Given the description of an element on the screen output the (x, y) to click on. 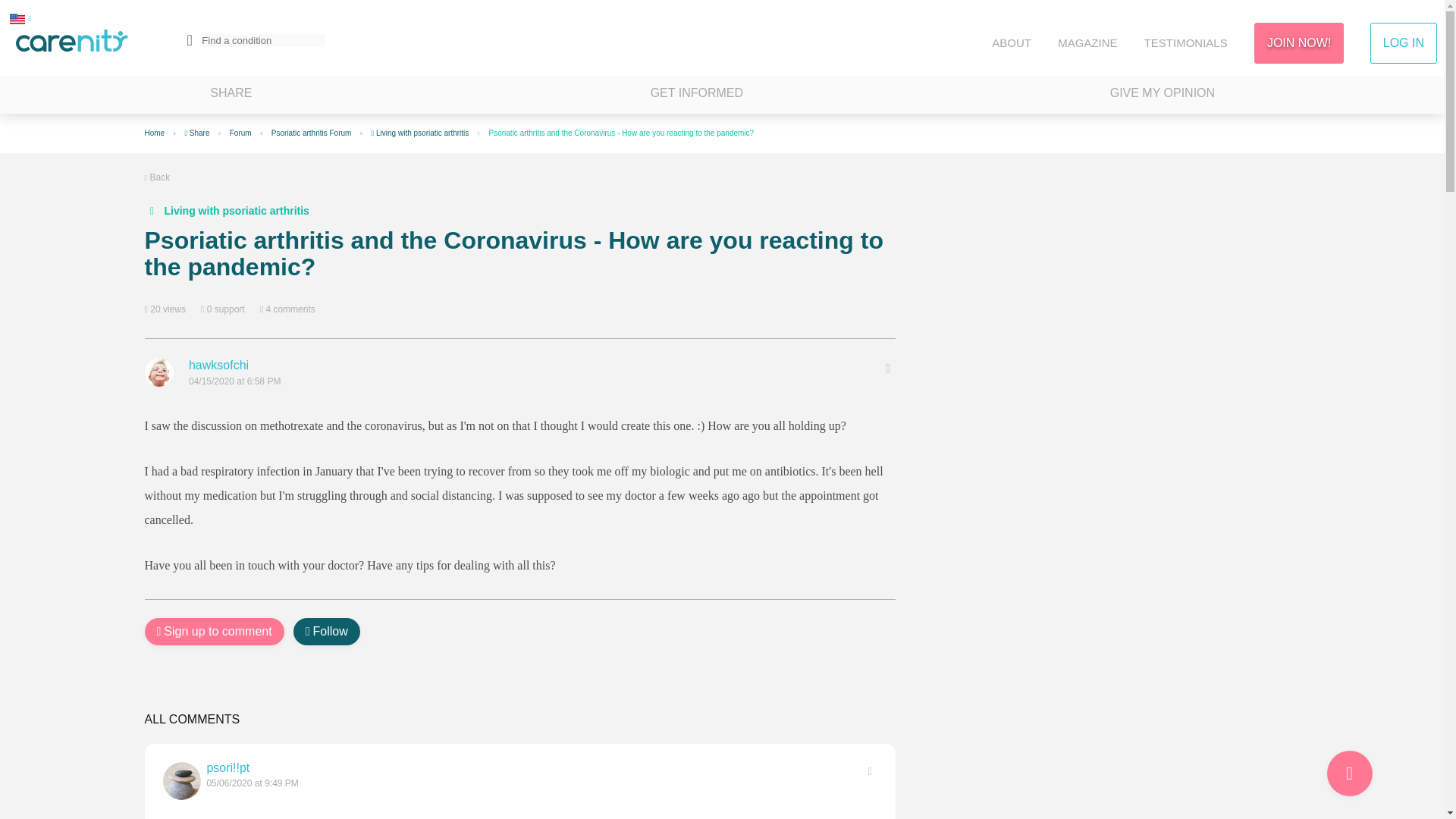
MAGAZINE (1087, 42)
TESTIMONIALS (1185, 42)
GET INFORMED (696, 94)
 Back (157, 177)
Sign up to comment (213, 631)
Psoriatic arthritis Forum (311, 132)
ABOUT (1010, 42)
Forum (240, 132)
JOIN NOW! (1298, 42)
Share (196, 132)
Follow (326, 631)
Living with psoriatic arthritis (226, 211)
LOG IN (1403, 42)
USA (17, 18)
GIVE MY OPINION (1161, 94)
